Given the description of an element on the screen output the (x, y) to click on. 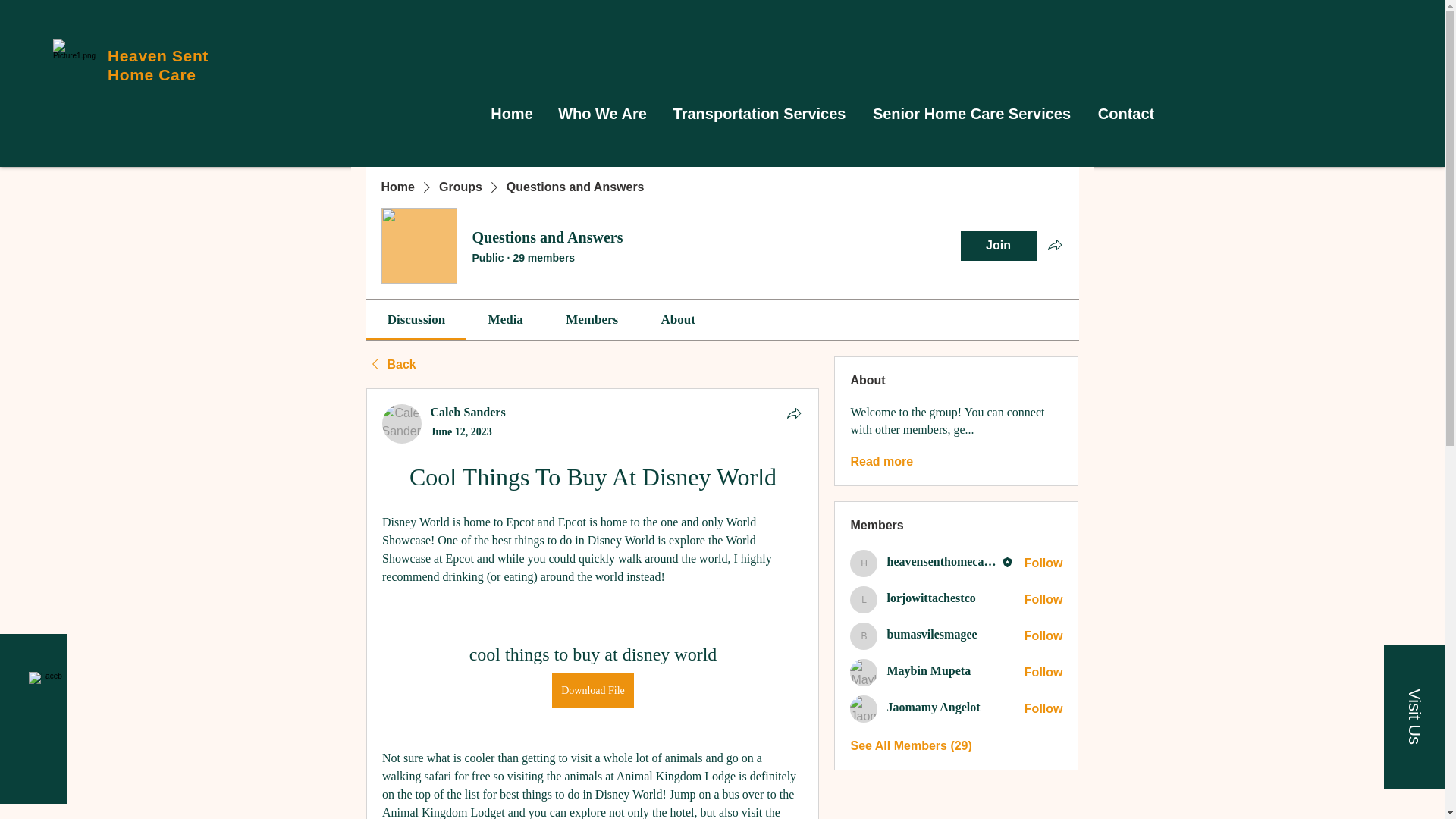
Jaomamy Angelot (932, 707)
Jaomamy Angelot (863, 708)
Follow (1043, 636)
bumasvilesmagee (863, 636)
lorjowittachestco (863, 599)
Maybin Mupeta (863, 672)
heavensenthomecare18 (863, 563)
Maybin Mupeta (928, 670)
Groups (460, 187)
Read more (881, 461)
Contact (1126, 113)
Transportation Services (759, 113)
lorjowittachestco (930, 597)
Caleb Sanders (467, 411)
Follow (1043, 672)
